Given the description of an element on the screen output the (x, y) to click on. 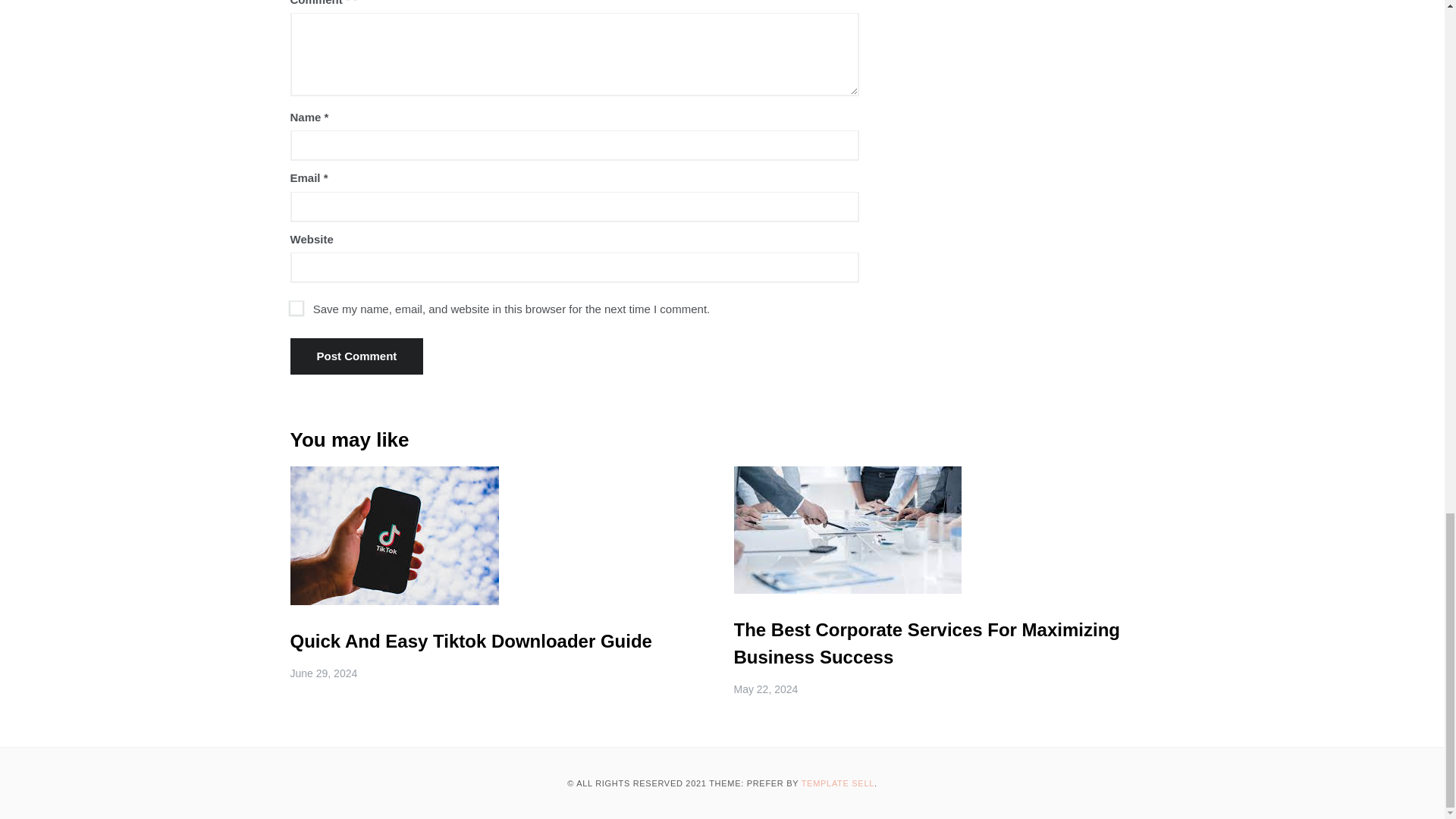
Post Comment (356, 356)
yes (293, 306)
Post Comment (356, 356)
